Given the description of an element on the screen output the (x, y) to click on. 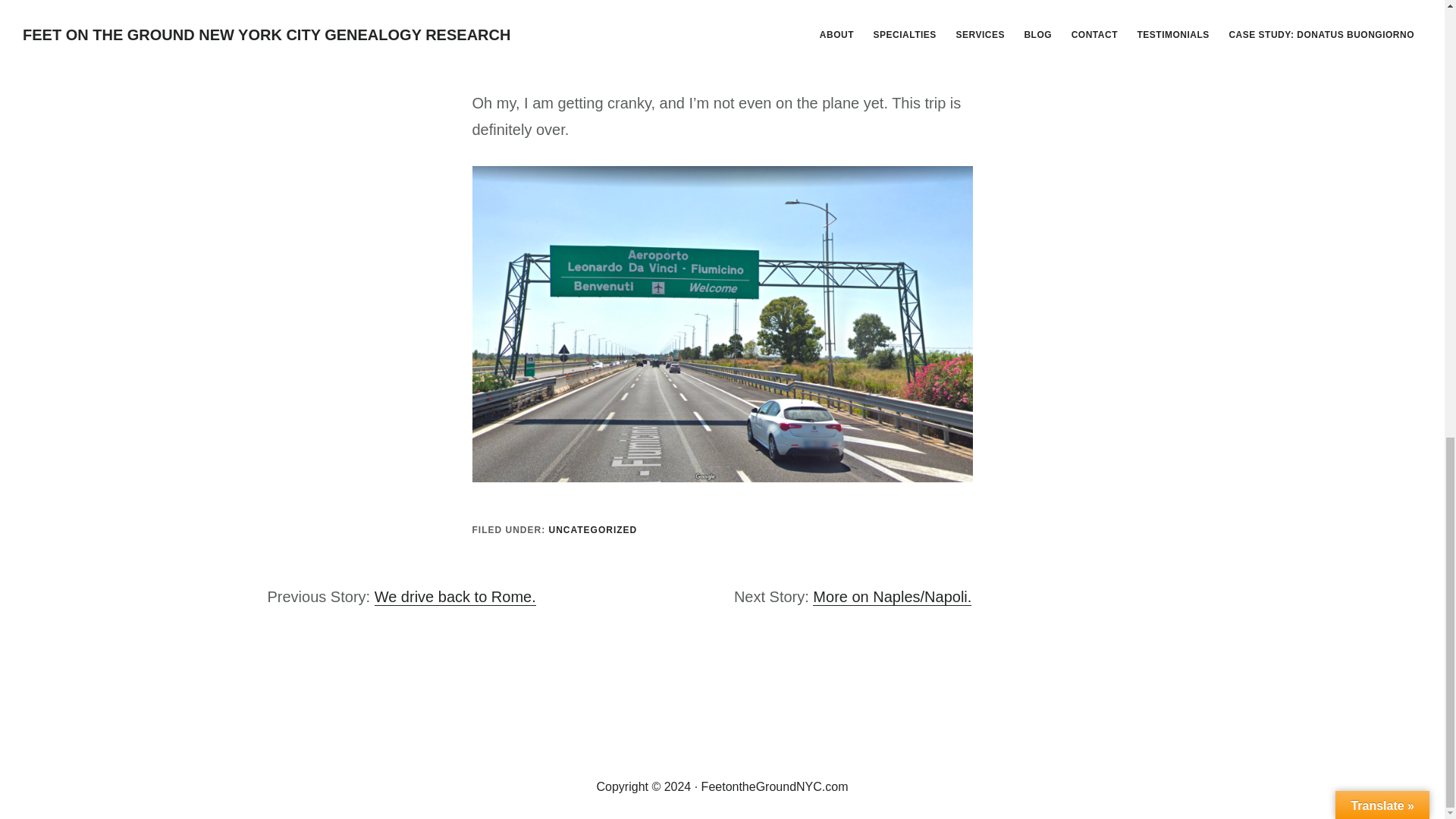
We drive back to Rome. (454, 597)
UNCATEGORIZED (592, 529)
FeetontheGroundNYC.com (774, 786)
